Given the description of an element on the screen output the (x, y) to click on. 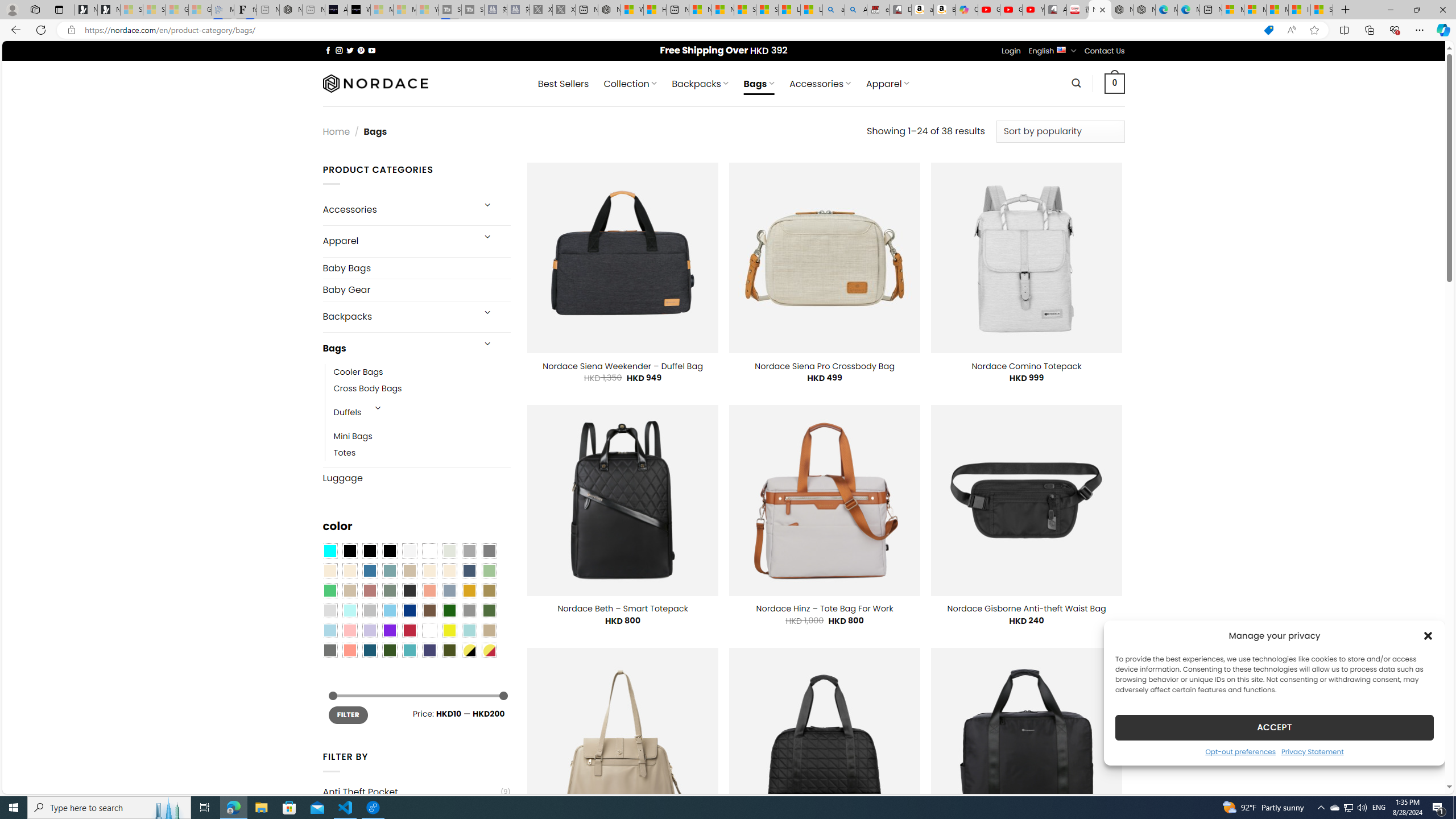
Peach Pink (349, 649)
Apparel (397, 241)
Follow on Twitter (349, 49)
Green (488, 610)
Kelp (488, 590)
Microsoft Start - Sleeping (404, 9)
Light Purple (369, 630)
FILTER (347, 714)
Cooler Bags (357, 371)
